Given the description of an element on the screen output the (x, y) to click on. 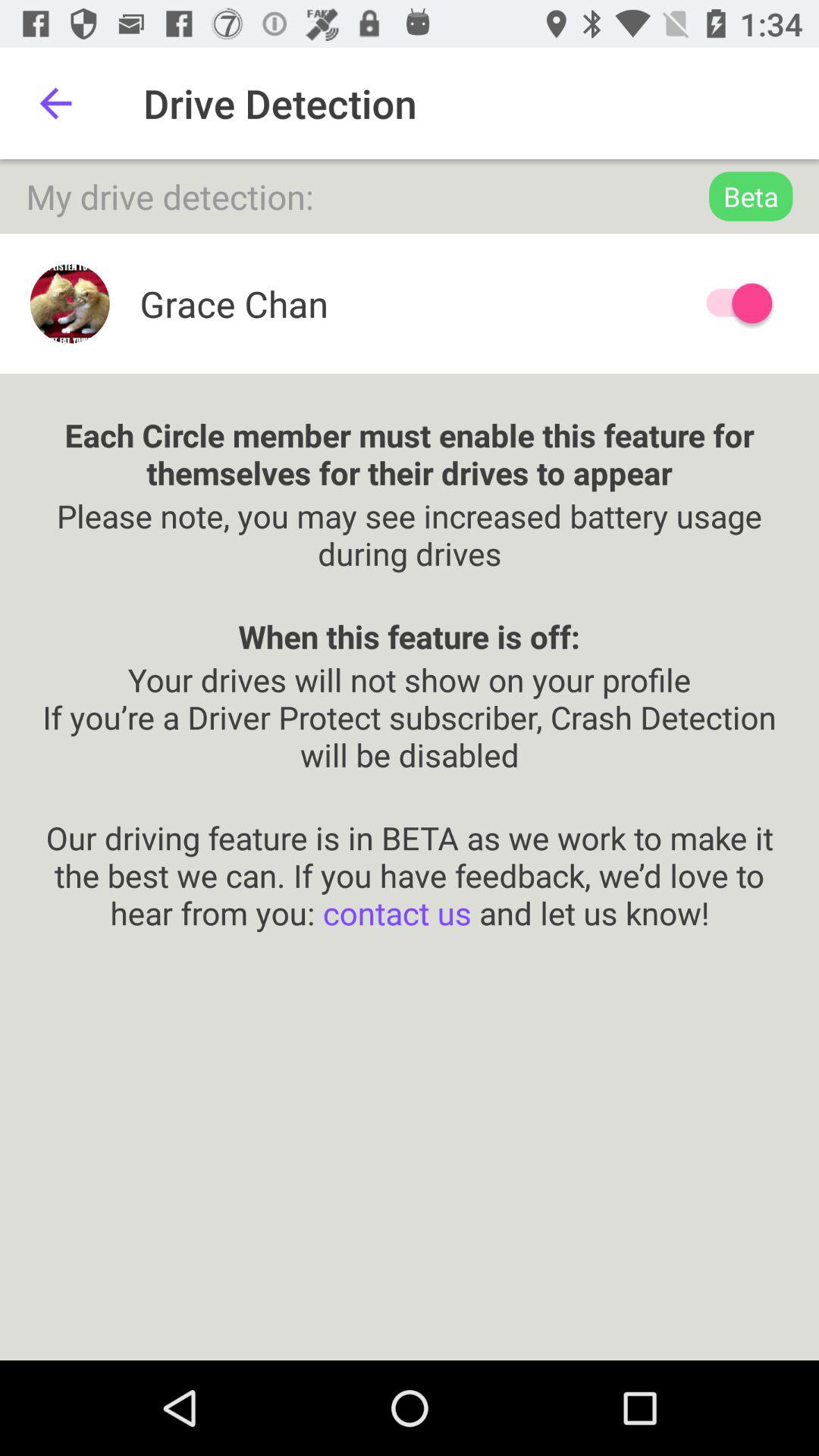
select the icon next to the drive detection icon (55, 103)
